Given the description of an element on the screen output the (x, y) to click on. 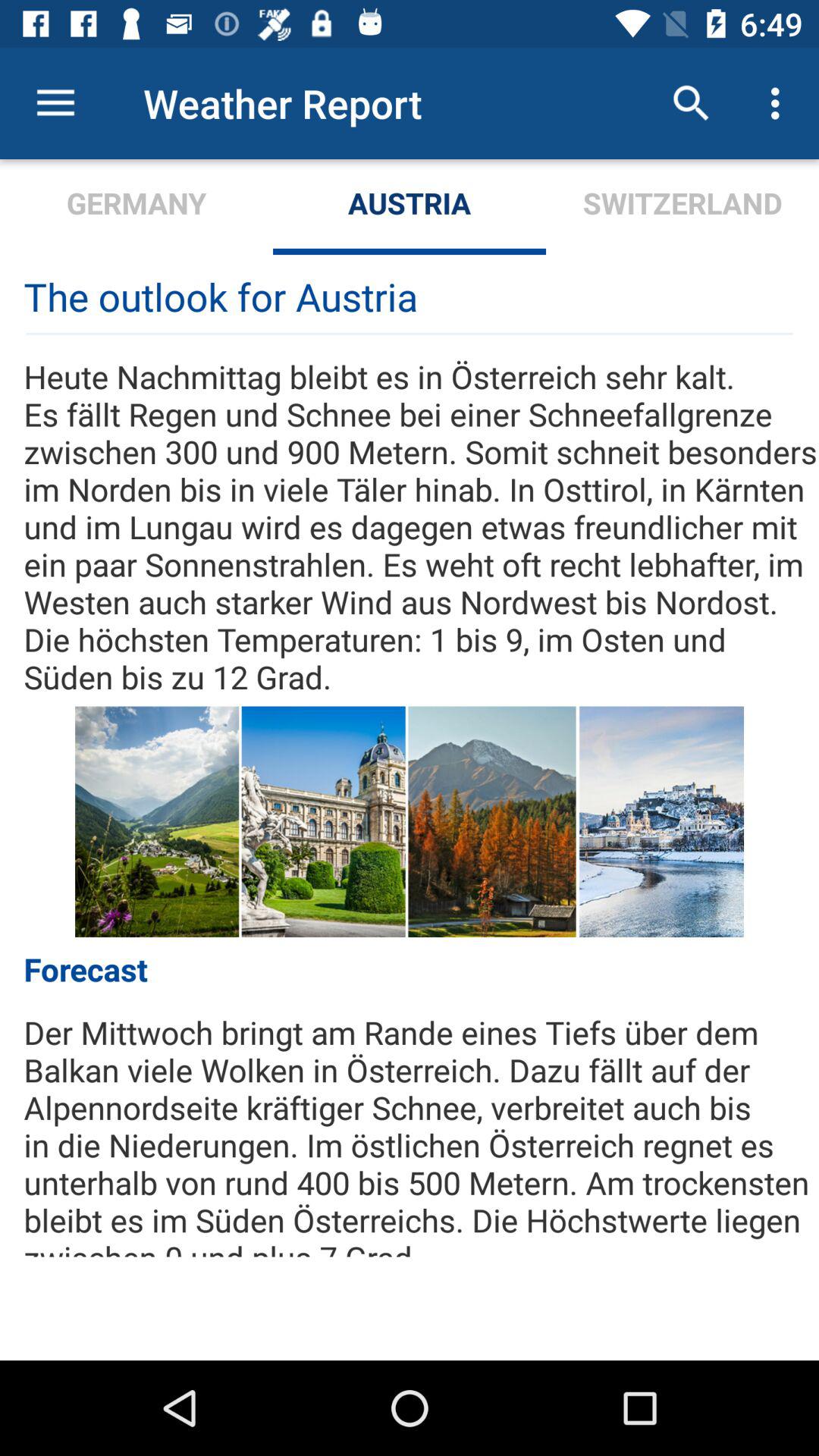
turn on the item next to the austria (136, 206)
